Given the description of an element on the screen output the (x, y) to click on. 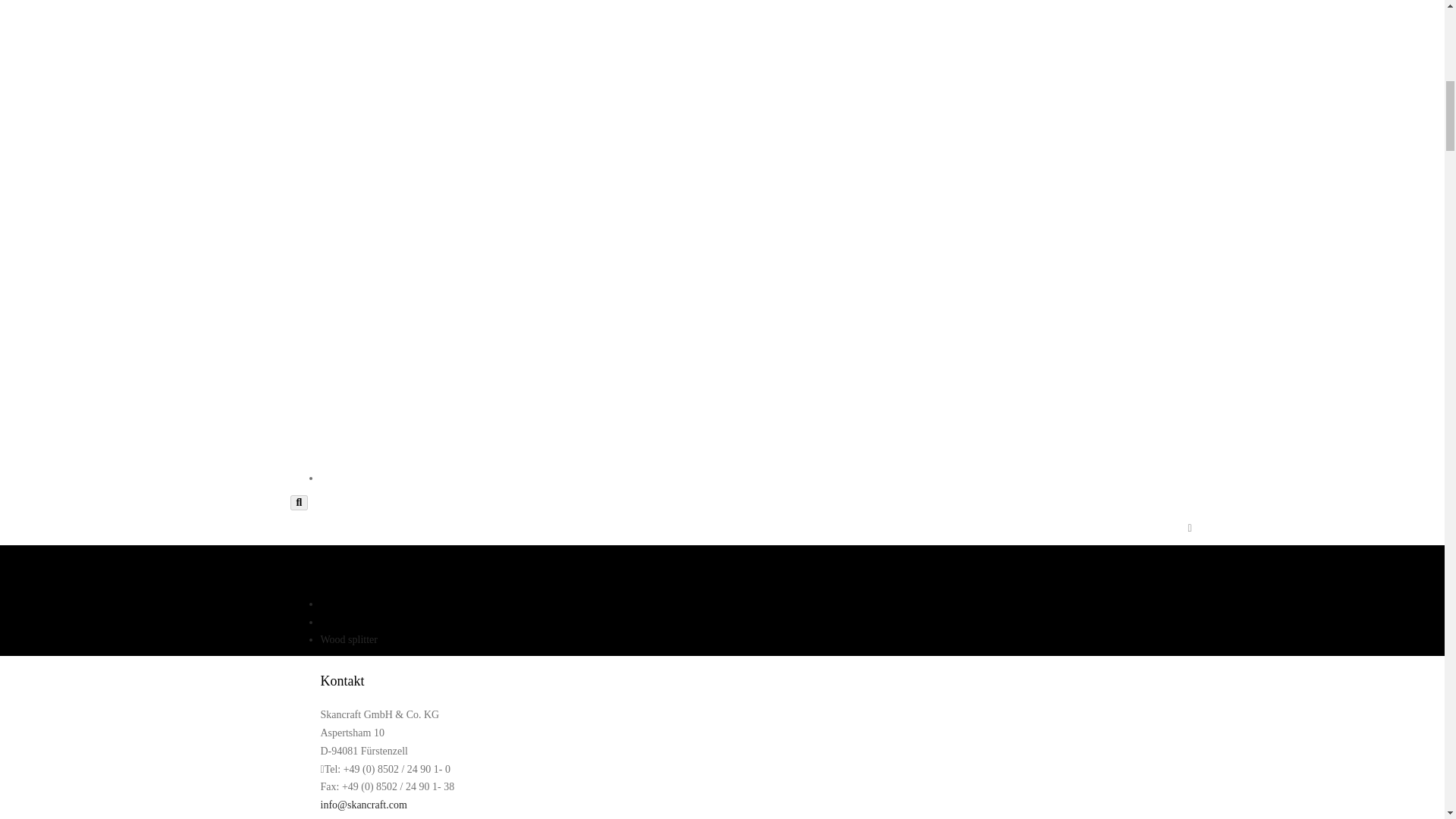
Search (298, 502)
Compactor (373, 818)
Products (338, 622)
Home (333, 603)
